Given the description of an element on the screen output the (x, y) to click on. 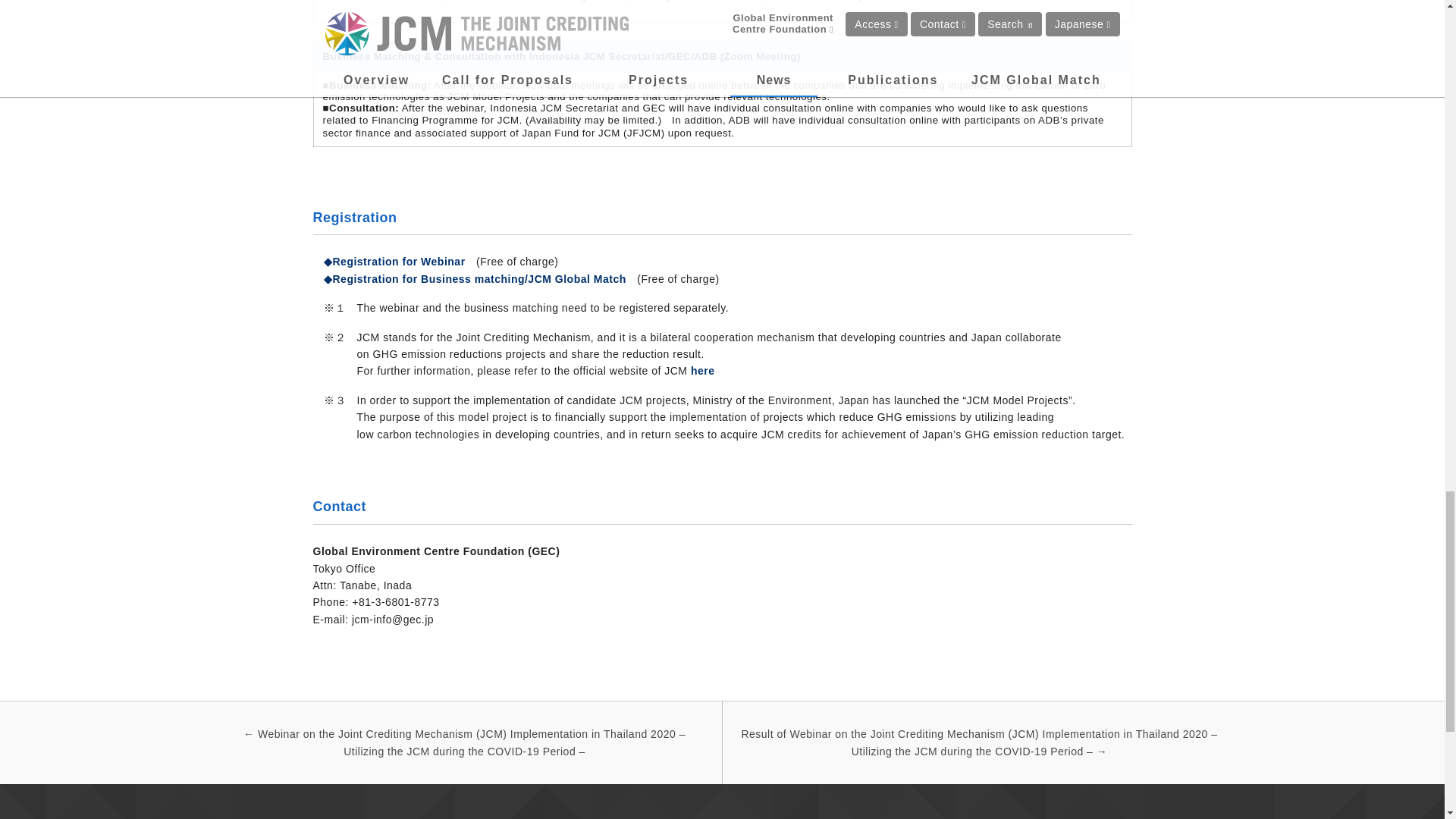
here (702, 370)
